Given the description of an element on the screen output the (x, y) to click on. 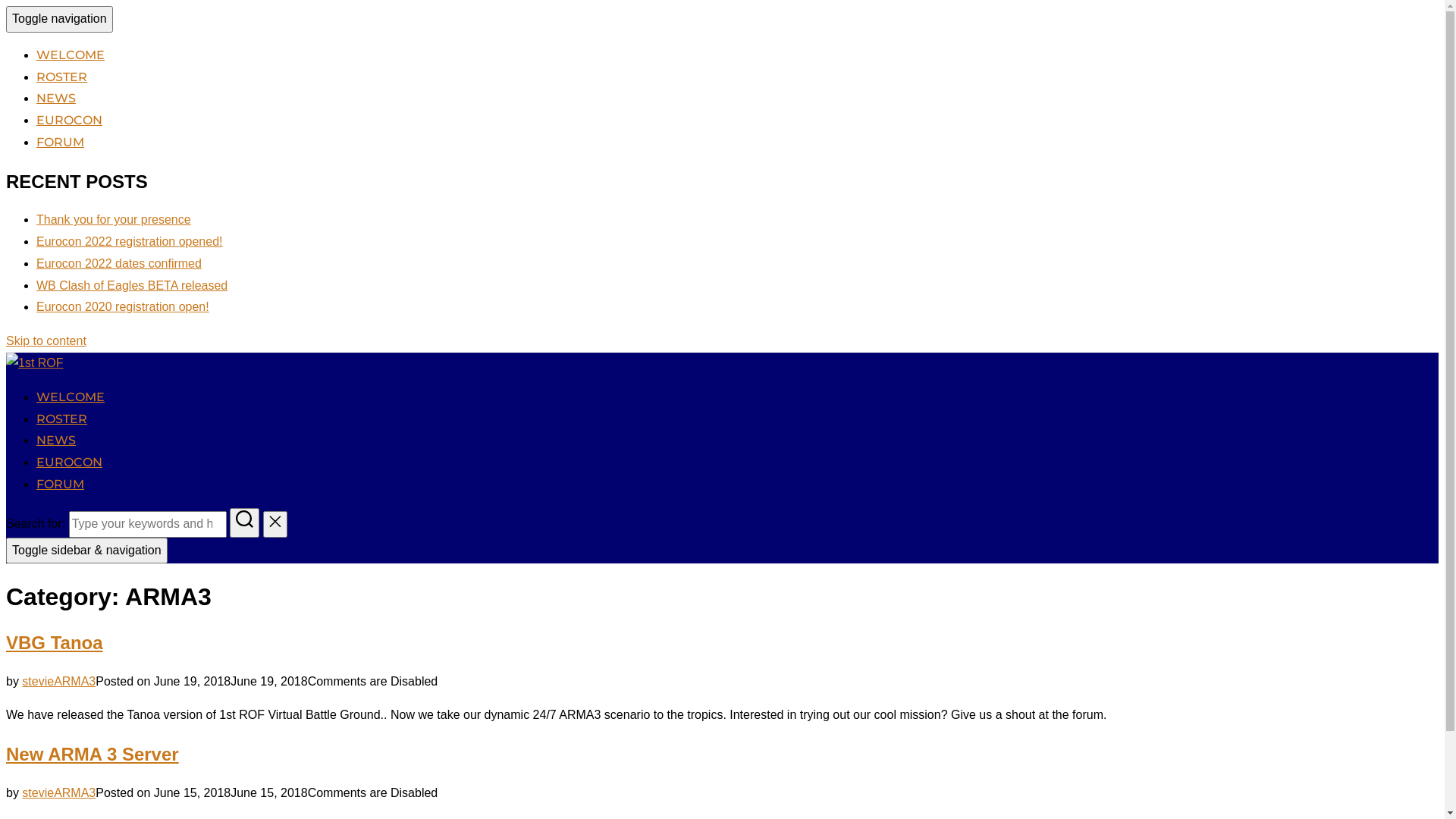
Skip to content Element type: text (46, 340)
WELCOME Element type: text (70, 396)
ROSTER Element type: text (61, 418)
Toggle sidebar & navigation Element type: text (86, 550)
ROSTER Element type: text (61, 76)
NEWS Element type: text (55, 98)
Eurocon 2020 registration open! Element type: text (122, 306)
Eurocon 2022 dates confirmed Element type: text (118, 263)
VBG Tanoa Element type: text (54, 642)
stevie Element type: text (37, 792)
WELCOME Element type: text (70, 54)
Toggle navigation Element type: text (59, 19)
ARMA3 Element type: text (74, 792)
FORUM Element type: text (60, 483)
EUROCON Element type: text (69, 462)
EUROCON Element type: text (69, 119)
Eurocon 2022 registration opened! Element type: text (129, 241)
stevie Element type: text (37, 680)
Thank you for your presence Element type: text (113, 219)
NEWS Element type: text (55, 440)
WB Clash of Eagles BETA released Element type: text (131, 285)
ARMA3 Element type: text (74, 680)
FORUM Element type: text (60, 141)
New ARMA 3 Server Element type: text (92, 753)
